Given the description of an element on the screen output the (x, y) to click on. 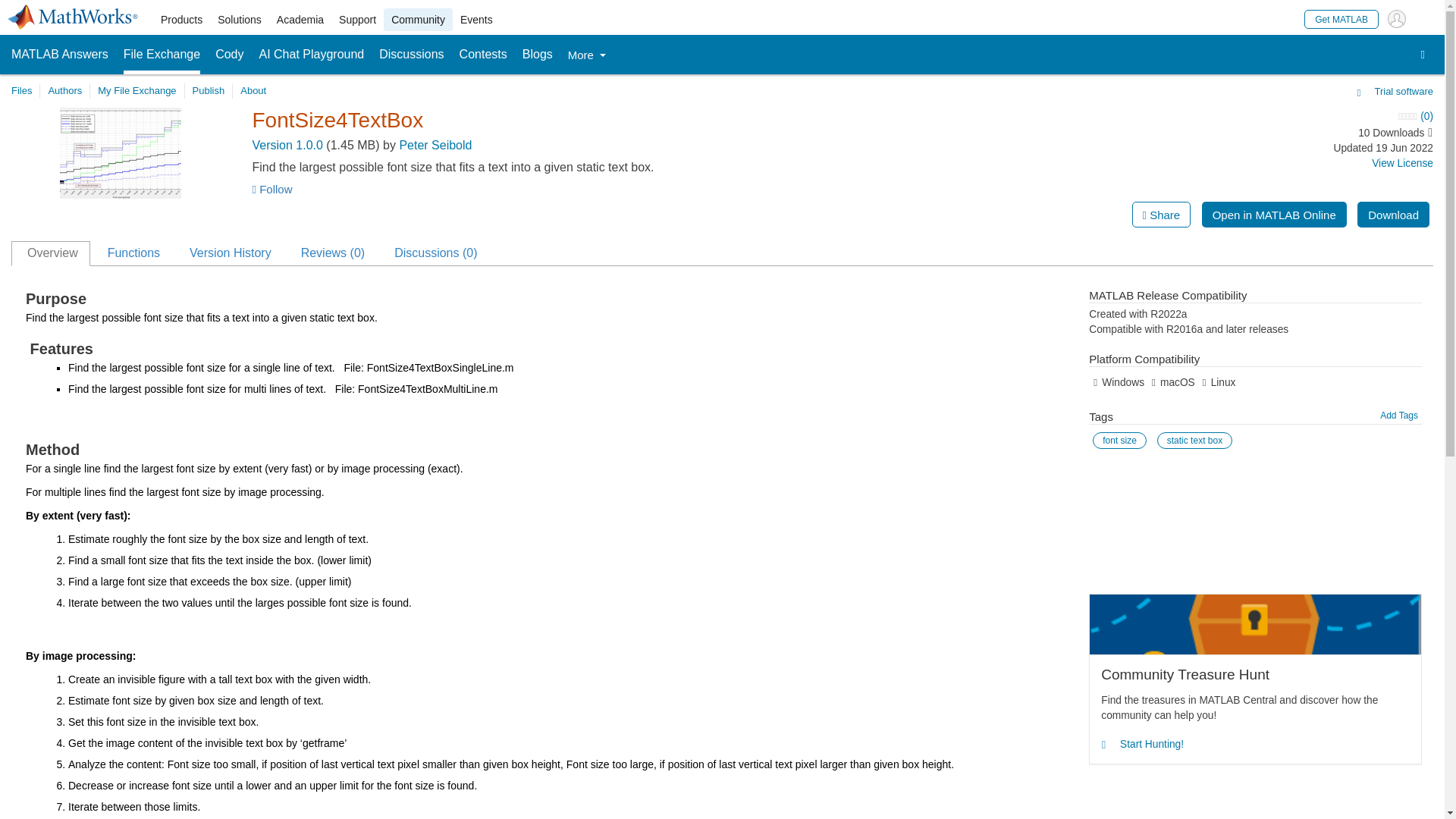
Contests (483, 54)
Academia (300, 19)
Events (476, 19)
Blogs (537, 54)
AI Chat Playground (312, 54)
Get MATLAB (1341, 18)
Sign In to Your MathWorks Account (1396, 18)
File Exchange (161, 54)
More (586, 54)
MATLAB Answers (59, 54)
Discussions (411, 54)
Cody (229, 54)
Support (357, 19)
Download (1392, 214)
0.00 out of 5 stars (1293, 116)
